Given the description of an element on the screen output the (x, y) to click on. 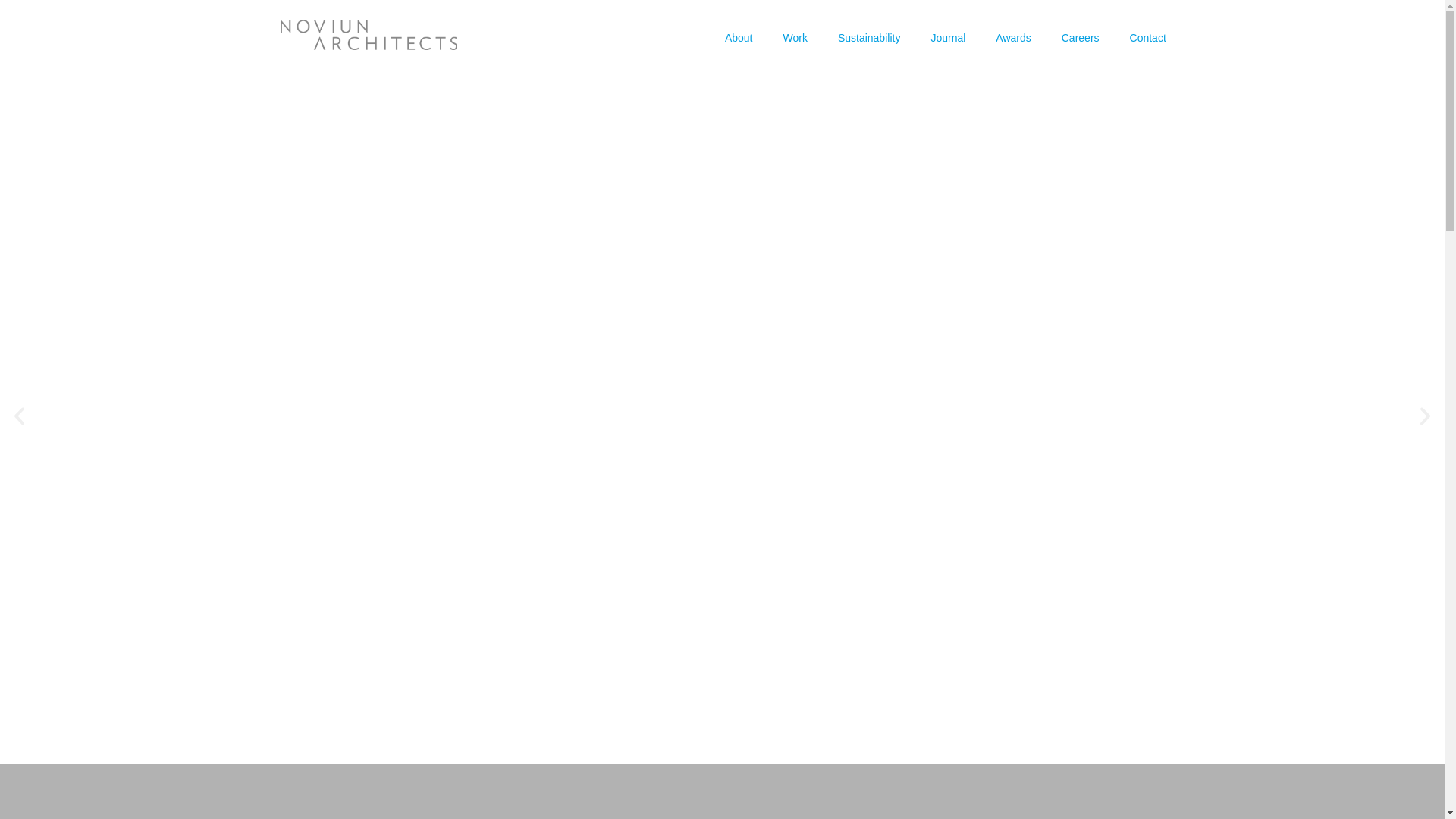
Work (794, 36)
Journal (947, 36)
Sustainability (868, 36)
Contact (1147, 36)
About (739, 36)
Awards (1012, 36)
Careers (1080, 36)
